Given the description of an element on the screen output the (x, y) to click on. 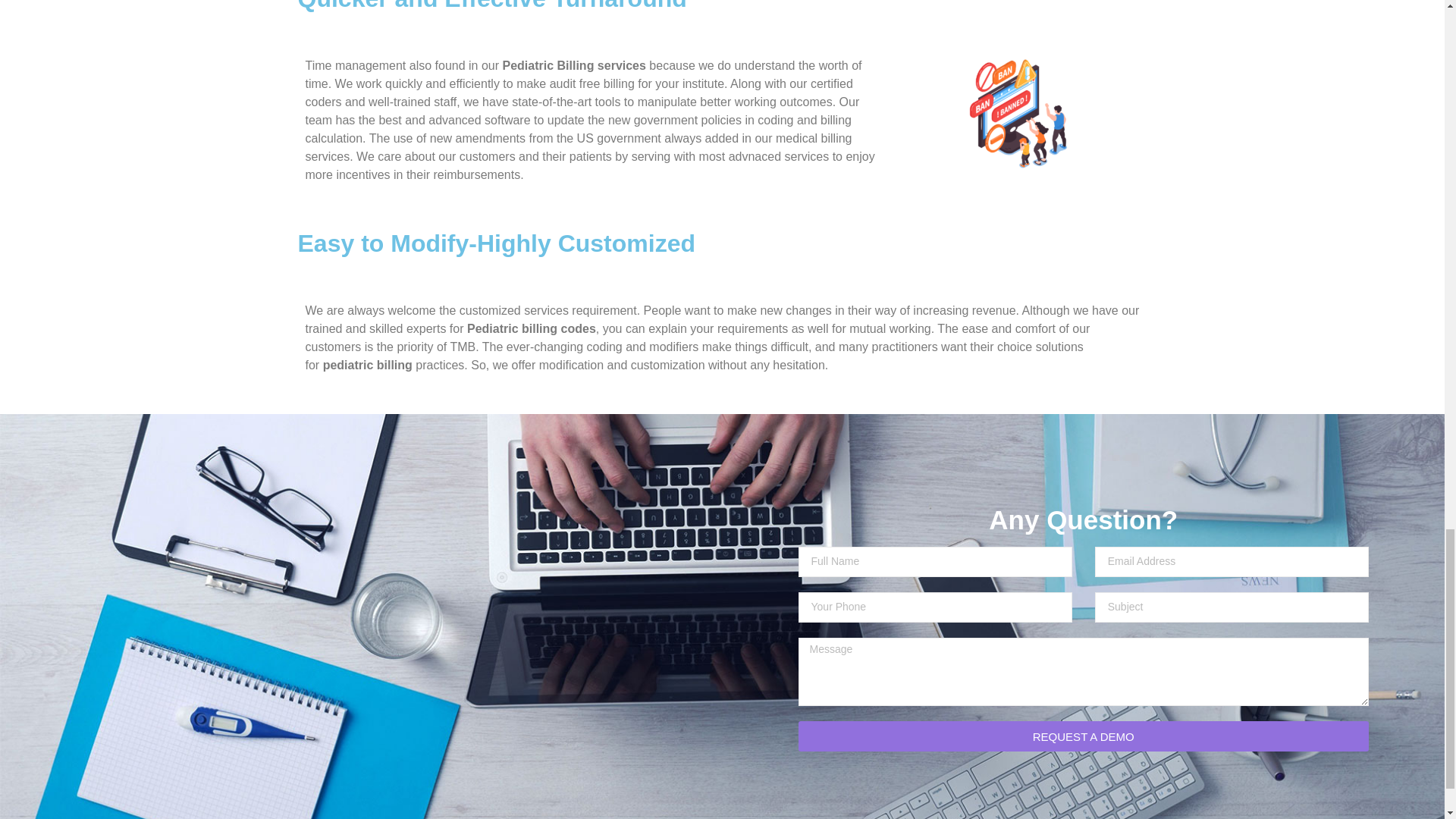
REQUEST A DEMO (1082, 736)
